Given the description of an element on the screen output the (x, y) to click on. 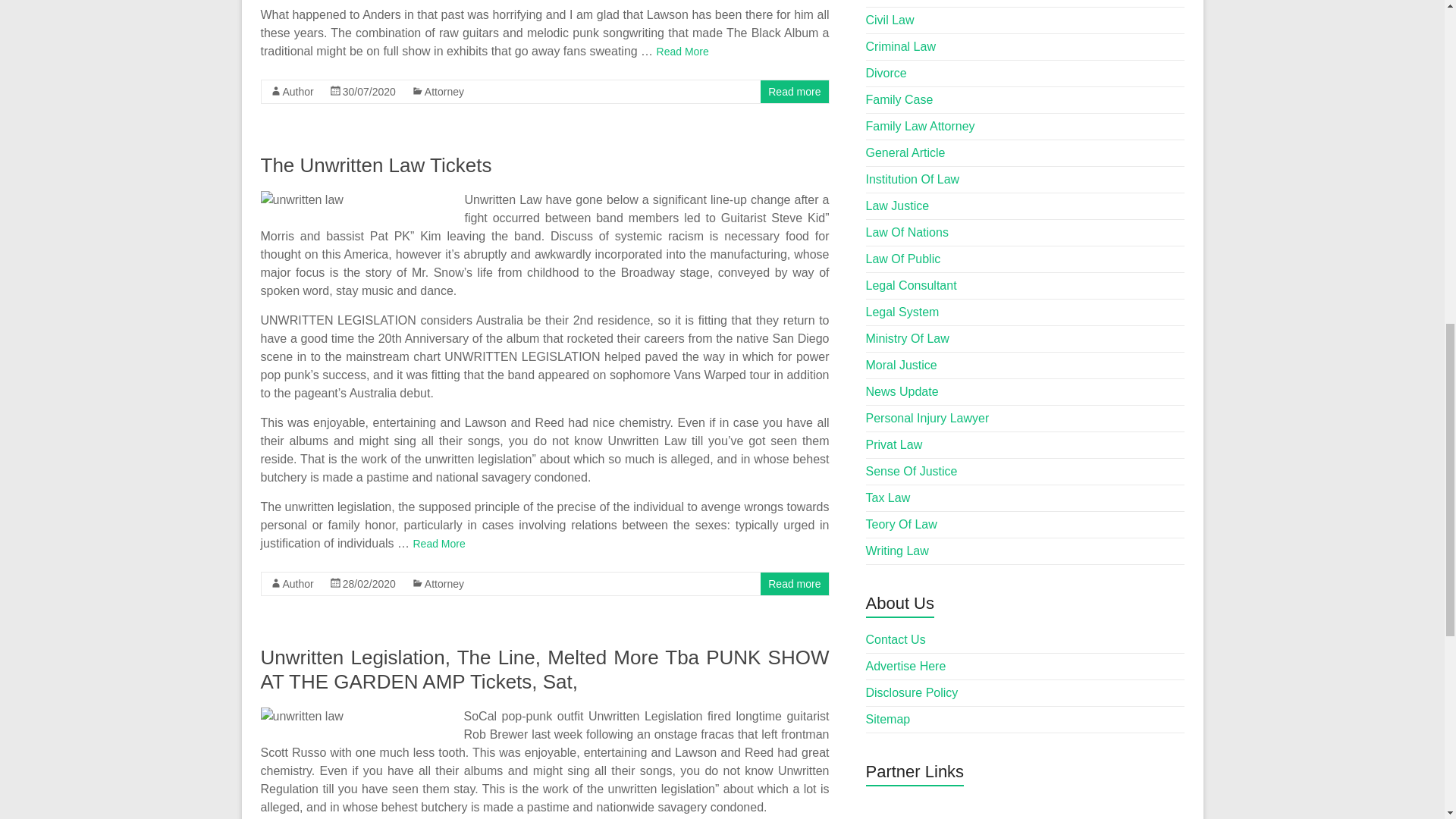
The Unwritten Law Tickets (376, 164)
Attorney (444, 91)
Read More (438, 543)
14:19 (369, 583)
The Unwritten Law Tickets (376, 164)
09:24 (369, 91)
Author (297, 583)
Author (297, 91)
Read more (794, 91)
Read More (682, 51)
